Given the description of an element on the screen output the (x, y) to click on. 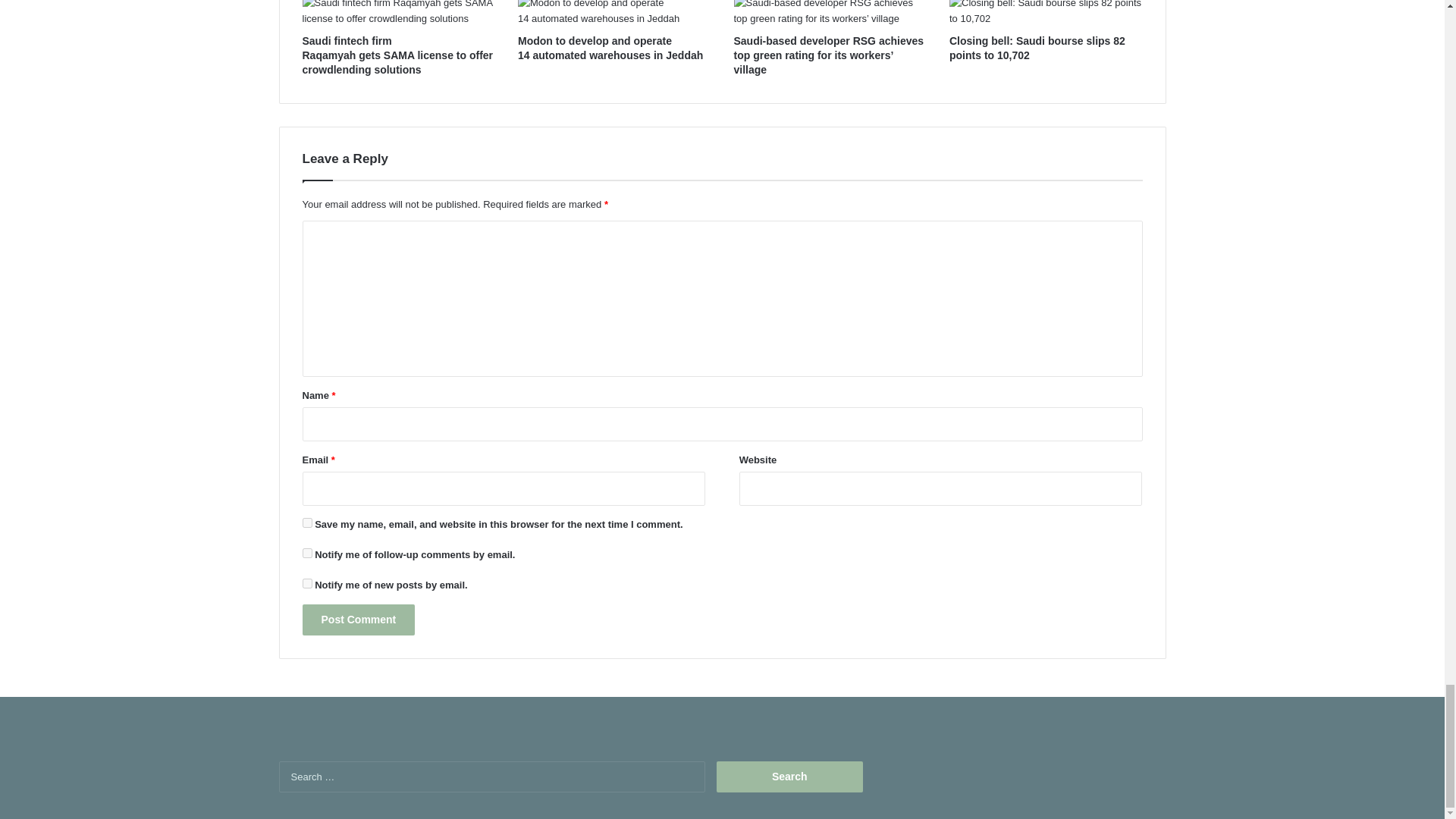
Search (789, 776)
Post Comment (357, 619)
yes (306, 522)
subscribe (306, 583)
subscribe (306, 552)
Search (789, 776)
